Given the description of an element on the screen output the (x, y) to click on. 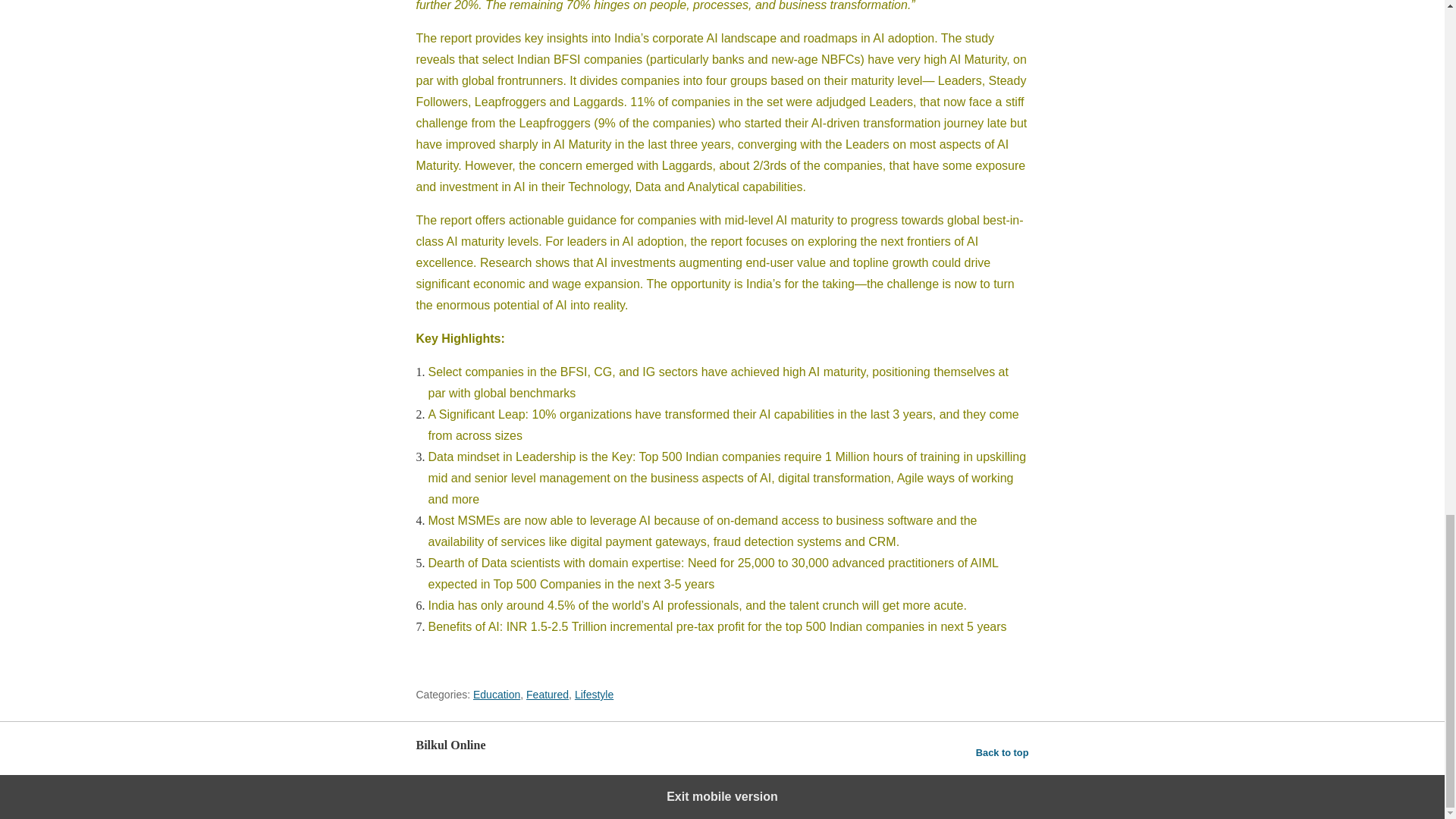
Lifestyle (593, 694)
Featured (547, 694)
Education (496, 694)
Back to top (1002, 752)
